Given the description of an element on the screen output the (x, y) to click on. 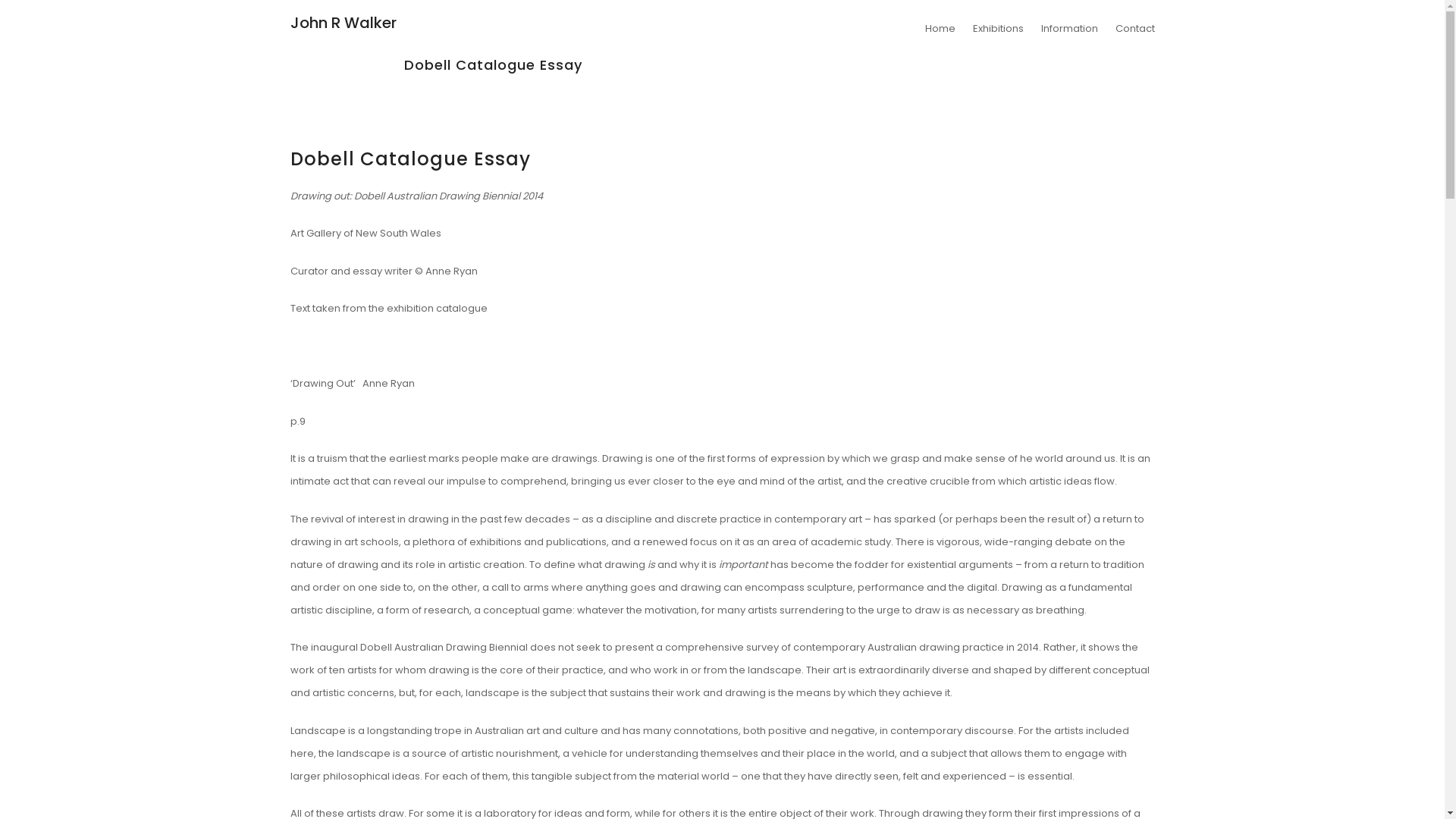
Contact Element type: text (1130, 28)
Home Element type: text (940, 28)
John R Walker Element type: text (342, 22)
Information Element type: text (1068, 28)
Exhibitions Element type: text (997, 28)
